Given the description of an element on the screen output the (x, y) to click on. 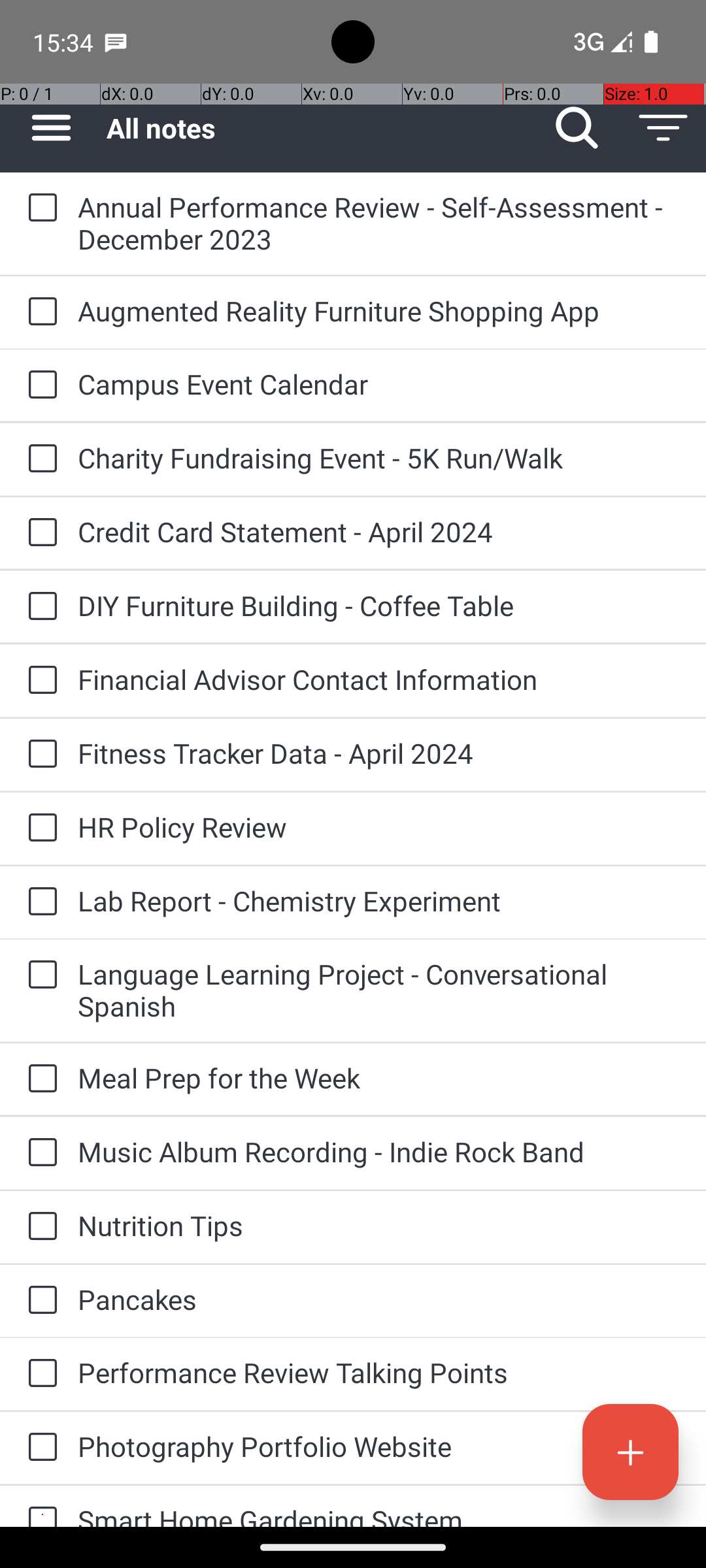
to-do: Annual Performance Review - Self-Assessment - December 2023 Element type: android.widget.CheckBox (38, 208)
Annual Performance Review - Self-Assessment - December 2023 Element type: android.widget.TextView (378, 222)
to-do: Augmented Reality Furniture Shopping App Element type: android.widget.CheckBox (38, 312)
Augmented Reality Furniture Shopping App Element type: android.widget.TextView (378, 310)
to-do: Campus Event Calendar Element type: android.widget.CheckBox (38, 385)
Campus Event Calendar Element type: android.widget.TextView (378, 383)
to-do: Charity Fundraising Event - 5K Run/Walk Element type: android.widget.CheckBox (38, 459)
Charity Fundraising Event - 5K Run/Walk Element type: android.widget.TextView (378, 457)
to-do: Credit Card Statement - April 2024 Element type: android.widget.CheckBox (38, 533)
Credit Card Statement - April 2024 Element type: android.widget.TextView (378, 531)
to-do: DIY Furniture Building - Coffee Table Element type: android.widget.CheckBox (38, 606)
DIY Furniture Building - Coffee Table Element type: android.widget.TextView (378, 604)
to-do: Financial Advisor Contact Information Element type: android.widget.CheckBox (38, 680)
Financial Advisor Contact Information Element type: android.widget.TextView (378, 678)
to-do: Fitness Tracker Data - April 2024 Element type: android.widget.CheckBox (38, 754)
Fitness Tracker Data - April 2024 Element type: android.widget.TextView (378, 752)
to-do: HR Policy Review Element type: android.widget.CheckBox (38, 828)
HR Policy Review Element type: android.widget.TextView (378, 826)
to-do: Lab Report - Chemistry Experiment Element type: android.widget.CheckBox (38, 902)
Lab Report - Chemistry Experiment Element type: android.widget.TextView (378, 900)
to-do: Language Learning Project - Conversational Spanish Element type: android.widget.CheckBox (38, 975)
Language Learning Project - Conversational Spanish Element type: android.widget.TextView (378, 989)
to-do: Meal Prep for the Week Element type: android.widget.CheckBox (38, 1079)
Meal Prep for the Week Element type: android.widget.TextView (378, 1077)
to-do: Music Album Recording - Indie Rock Band Element type: android.widget.CheckBox (38, 1153)
Music Album Recording - Indie Rock Band Element type: android.widget.TextView (378, 1151)
to-do: Nutrition Tips Element type: android.widget.CheckBox (38, 1226)
Nutrition Tips Element type: android.widget.TextView (378, 1224)
to-do: Pancakes Element type: android.widget.CheckBox (38, 1300)
Pancakes Element type: android.widget.TextView (378, 1298)
to-do: Performance Review Talking Points Element type: android.widget.CheckBox (38, 1373)
Performance Review Talking Points Element type: android.widget.TextView (378, 1371)
to-do: Photography Portfolio Website Element type: android.widget.CheckBox (38, 1447)
Photography Portfolio Website Element type: android.widget.TextView (378, 1445)
to-do: Smart Home Gardening System Element type: android.widget.CheckBox (38, 1505)
Smart Home Gardening System Element type: android.widget.TextView (378, 1513)
